Given the description of an element on the screen output the (x, y) to click on. 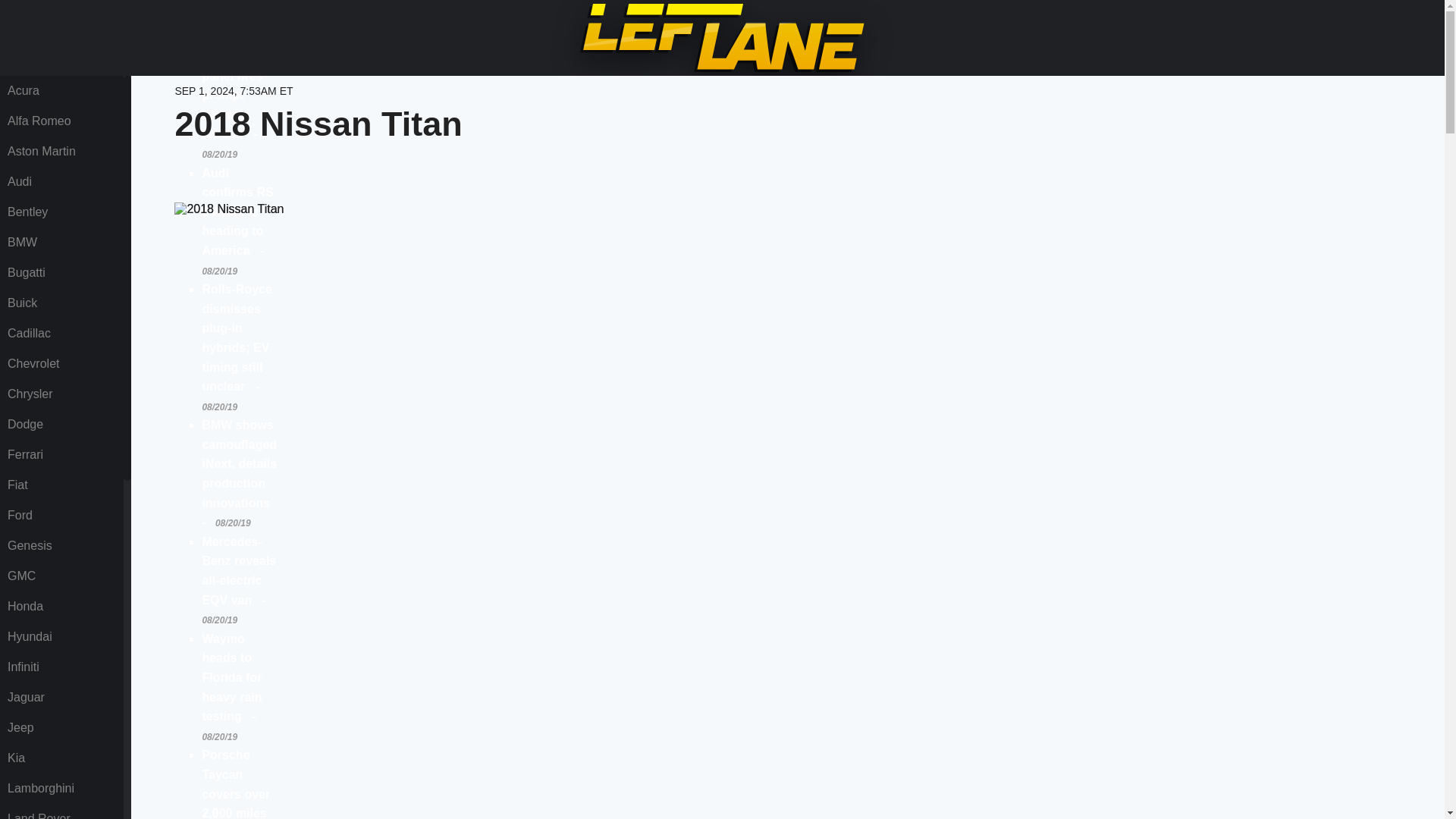
Jeep (61, 727)
Honda (61, 606)
Bentley (61, 212)
Acura (61, 91)
Alfa Romeo (61, 121)
Hyundai (61, 636)
Chevrolet (61, 363)
BMW (61, 242)
Jaguar (61, 697)
Infiniti (61, 666)
